Given the description of an element on the screen output the (x, y) to click on. 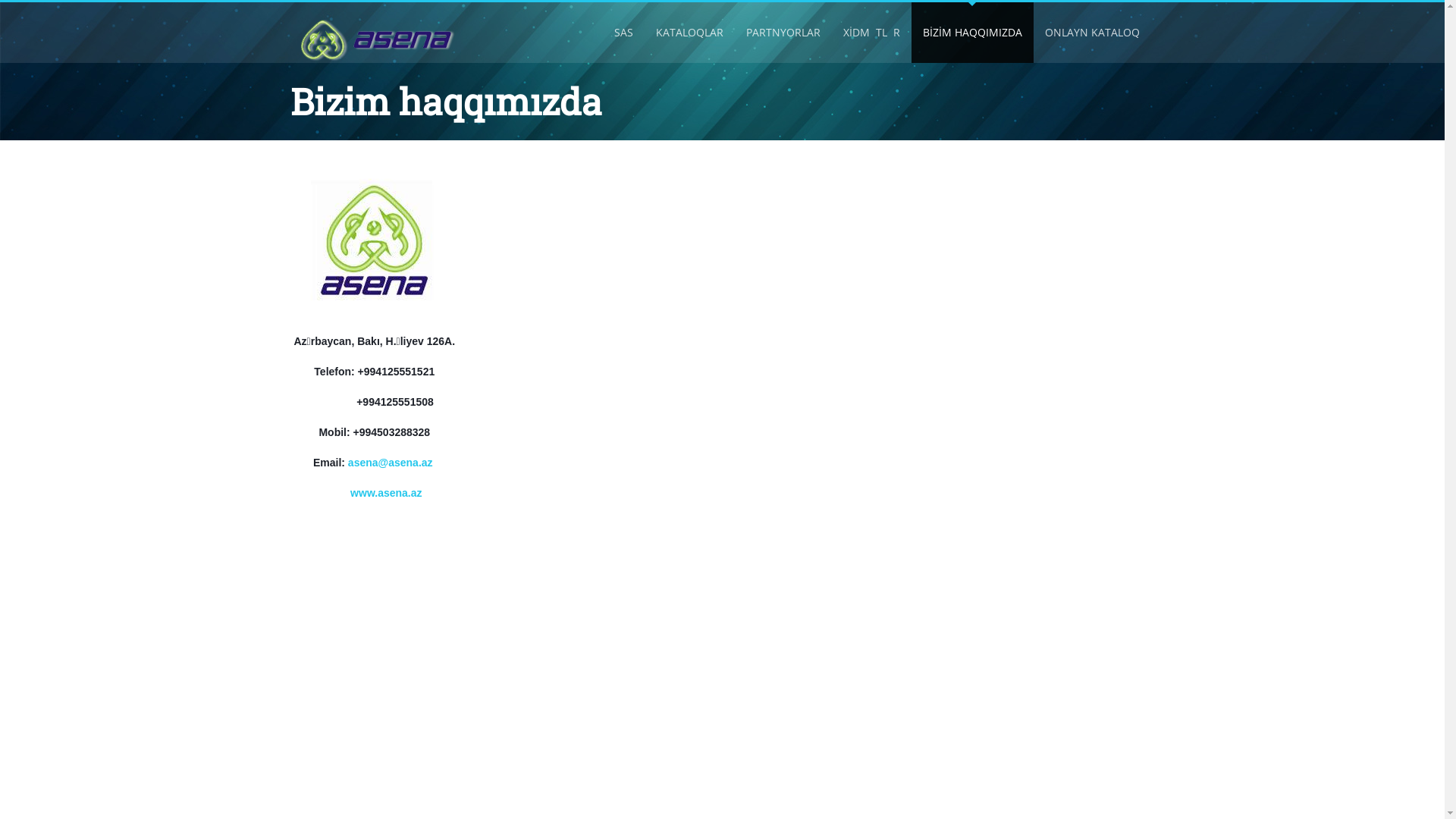
BIZIM HAQQIMIZDA Element type: text (972, 32)
 www.asena.az Element type: text (384, 492)
asena@asena.az Element type: text (390, 462)
Asena Element type: hover (377, 39)
ONLAYN KATALOQ Element type: text (1091, 32)
PARTNYORLAR Element type: text (782, 32)
KATALOQLAR Element type: text (689, 32)
